Given the description of an element on the screen output the (x, y) to click on. 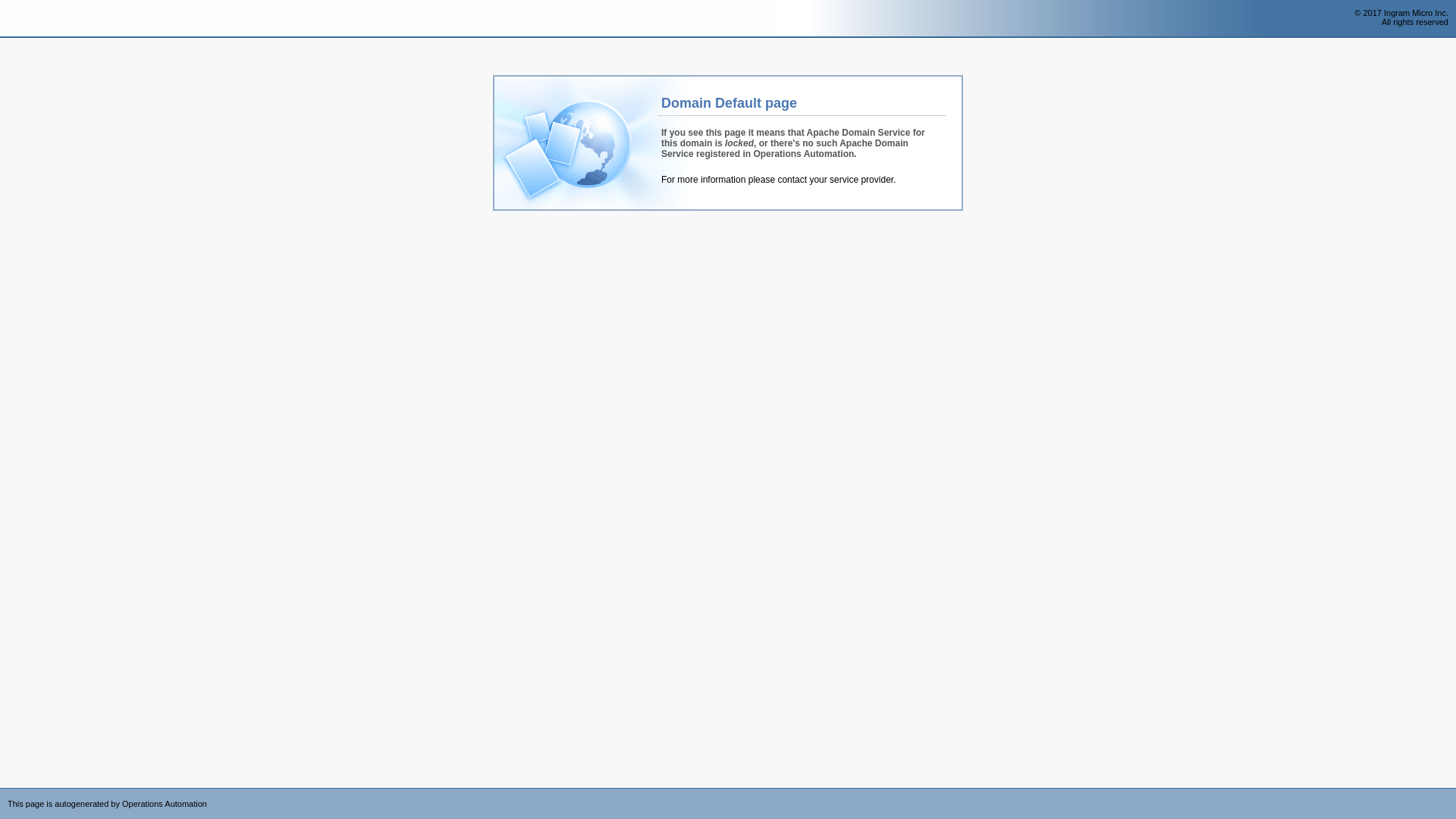
Powered by CloudBlue Commerce Element type: hover (1447, 792)
Operations Automation Element type: text (39, 18)
